Given the description of an element on the screen output the (x, y) to click on. 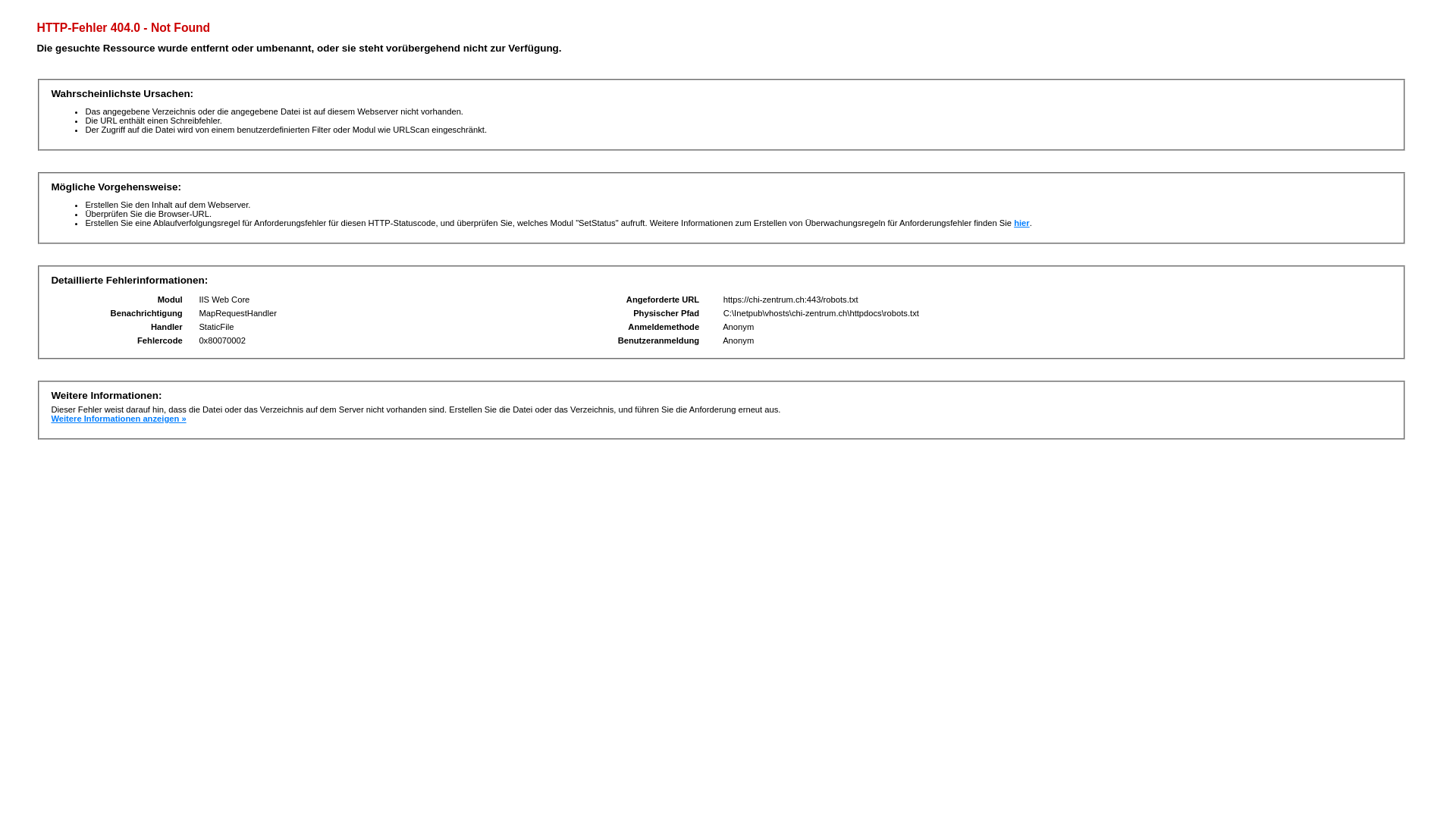
hier Element type: text (1021, 222)
